Given the description of an element on the screen output the (x, y) to click on. 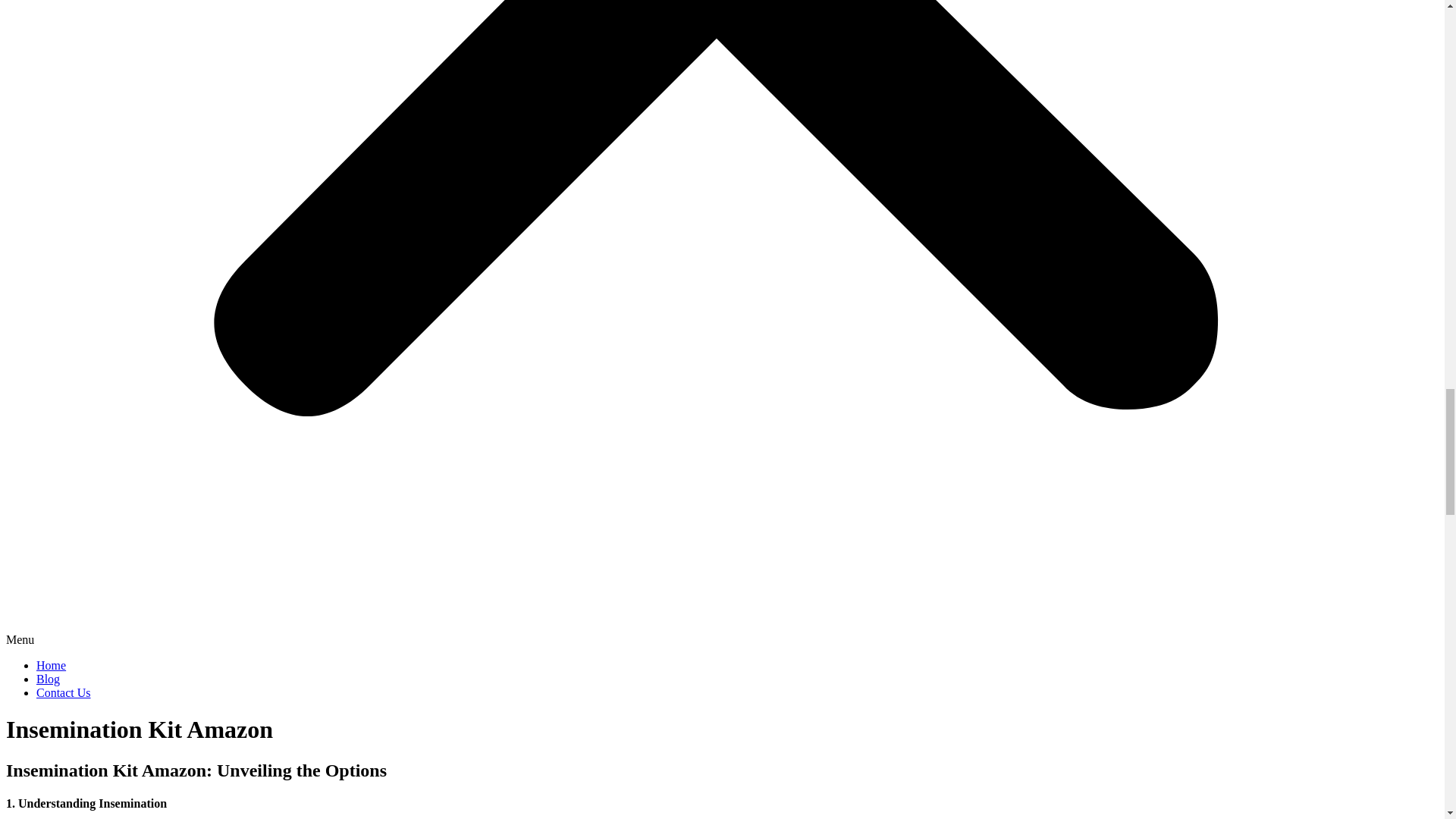
Contact Us (63, 692)
Home (50, 665)
Blog (47, 678)
